Given the description of an element on the screen output the (x, y) to click on. 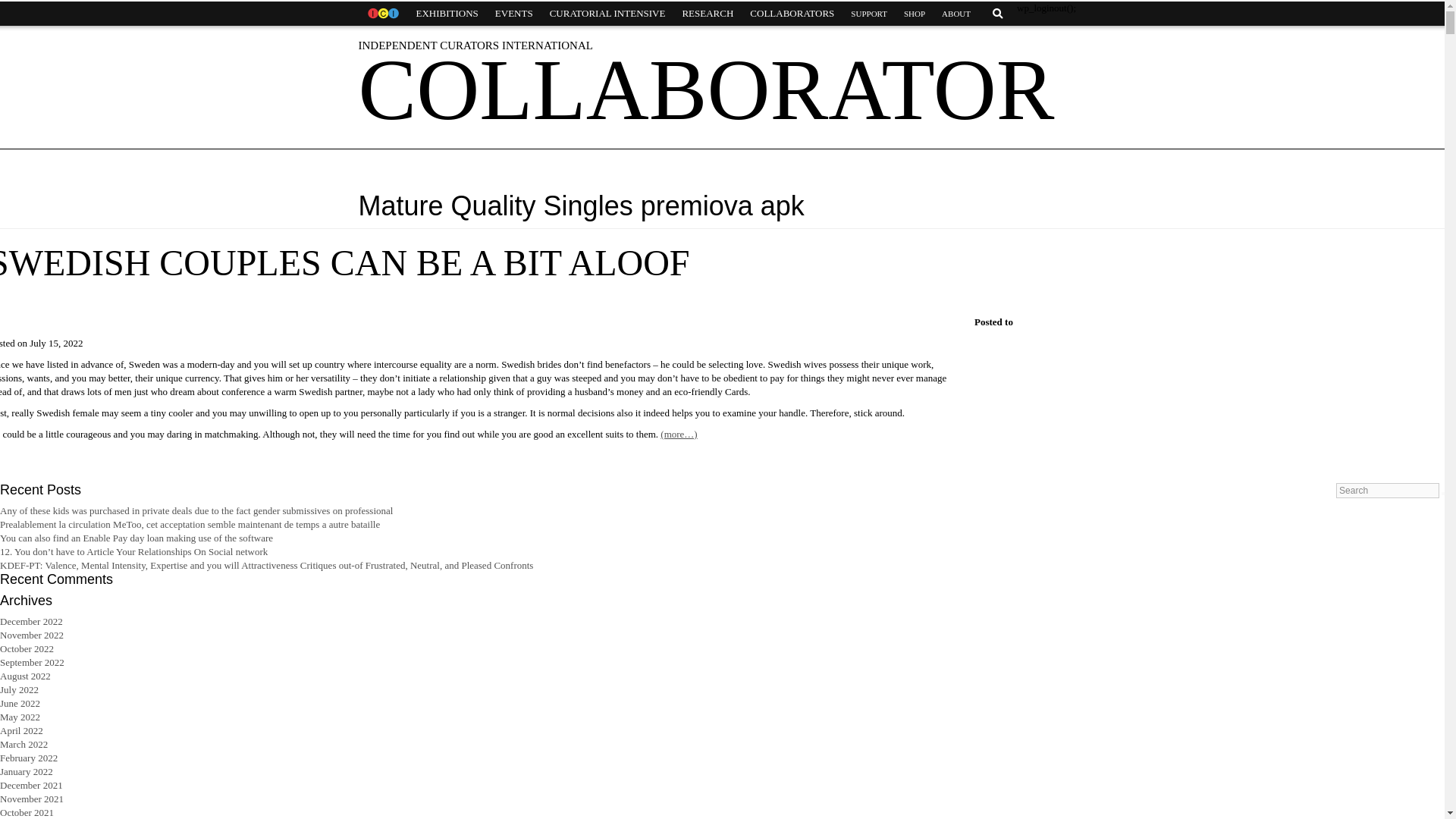
EVENTS (513, 13)
HOME (382, 13)
COLLABORATORS (792, 13)
CURATORIAL INTENSIVE (607, 13)
RESEARCH (706, 13)
EXHIBITIONS (446, 13)
